Given the description of an element on the screen output the (x, y) to click on. 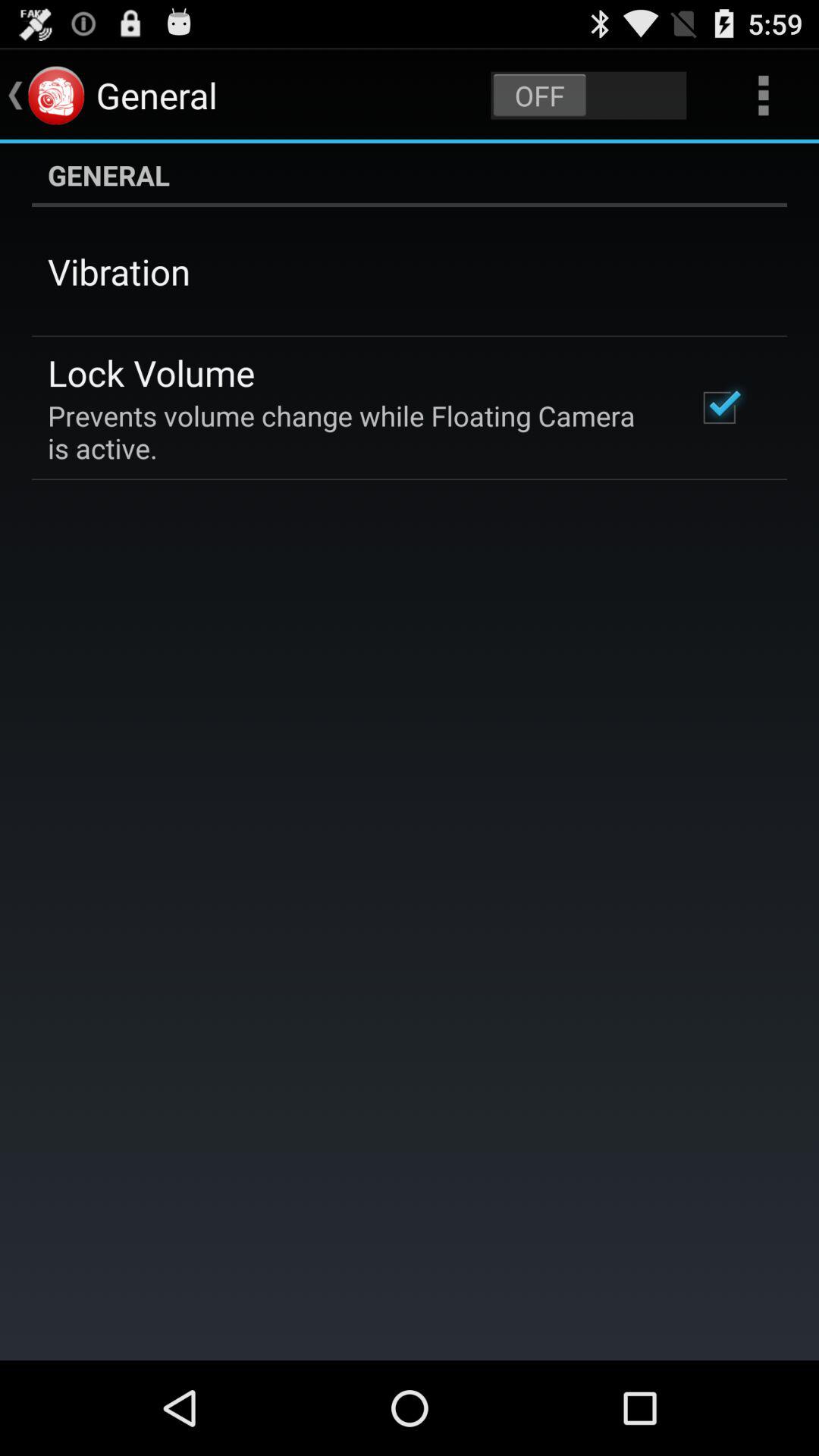
launch prevents volume change (351, 431)
